Given the description of an element on the screen output the (x, y) to click on. 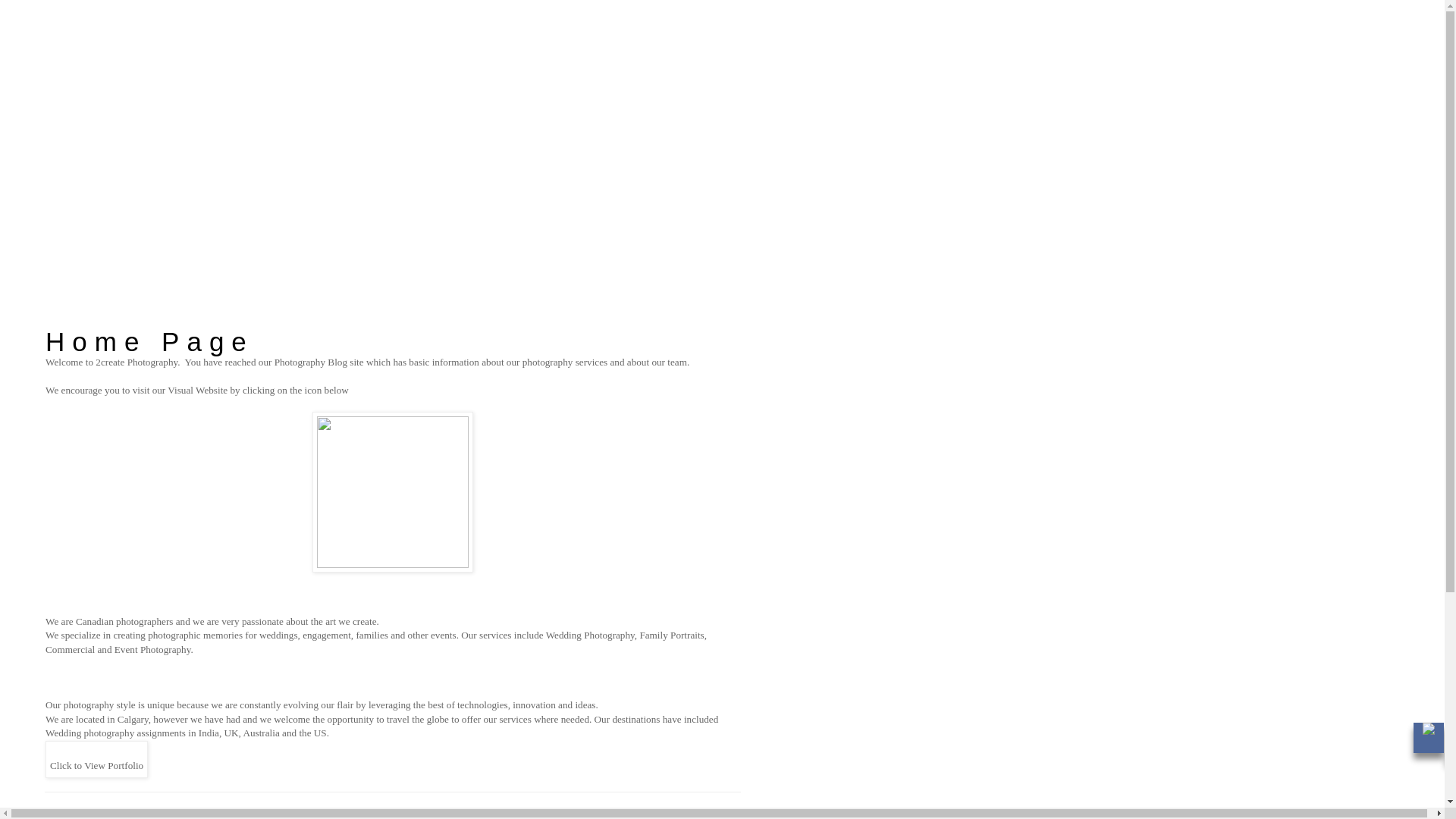
Fashion Photography Element type: text (105, 119)
Pinterest Element type: text (82, 267)
Pet Photos Element type: text (85, 176)
Newborn baby Photos Element type: text (106, 96)
Architecture: Interiors and Exteriors Element type: text (132, 165)
Proposals and Engagements Element type: text (117, 62)
Photography Menu Element type: text (71, 51)
Website Element type: text (50, 199)
Weddings Element type: text (84, 74)
Portfolio Element type: text (52, 187)
Contact Element type: text (50, 210)
Home Element type: text (47, 39)
Personal Blog Element type: text (92, 278)
Social Media Element type: text (60, 233)
Family Portraits Element type: text (95, 108)
Facebook Element type: text (84, 244)
SocialMedia Content Element type: text (74, 221)
Maternity Photos Element type: text (97, 85)
E-Commerce and Product Photos Element type: text (127, 153)
Corporate Photos Element type: text (98, 130)
Flickr Element type: text (77, 256)
Event Photopraphy Element type: text (101, 142)
